Given the description of an element on the screen output the (x, y) to click on. 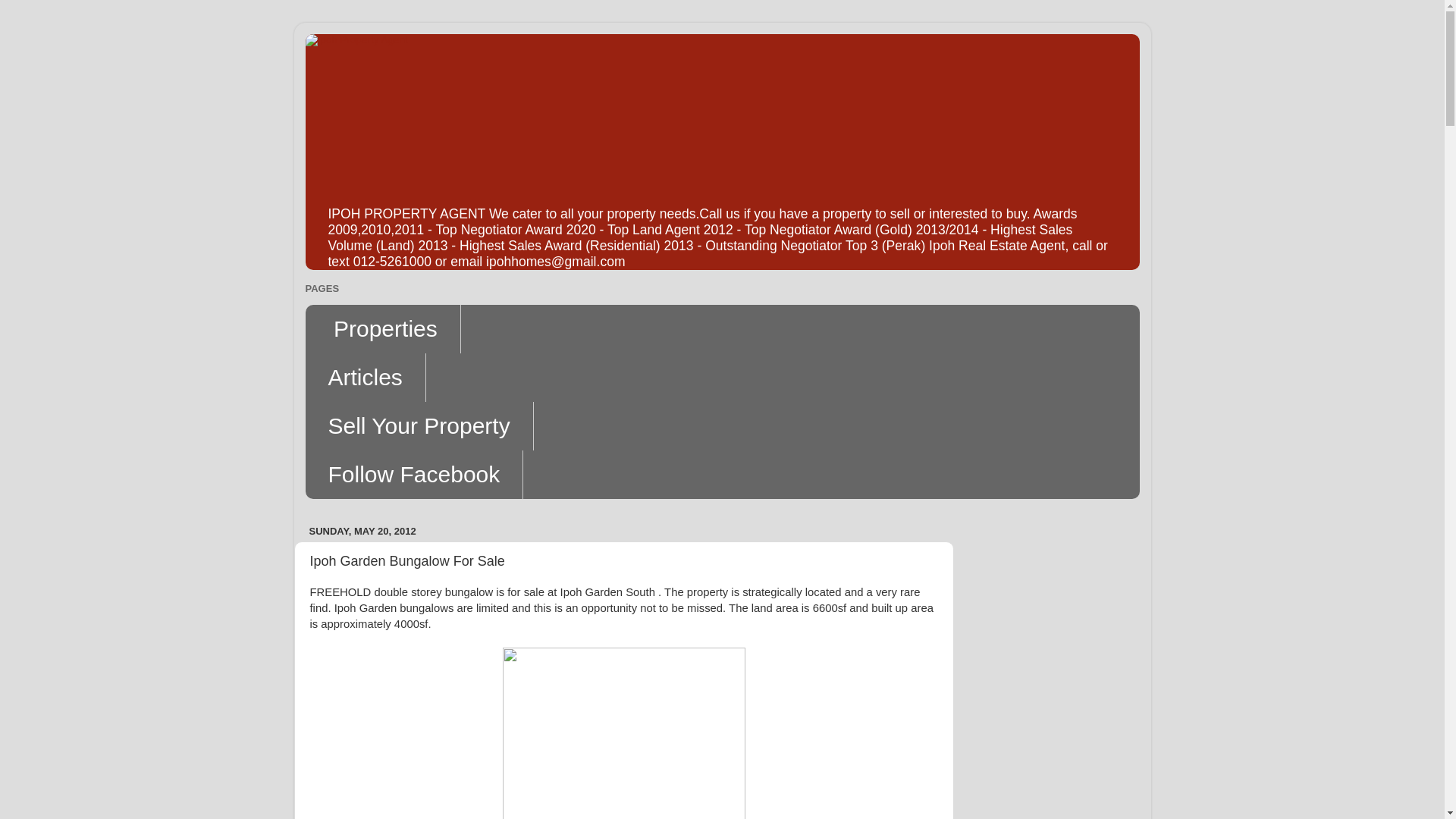
Properties (382, 328)
Sell Your Property (418, 426)
Articles (364, 377)
Follow Facebook (413, 474)
